Given the description of an element on the screen output the (x, y) to click on. 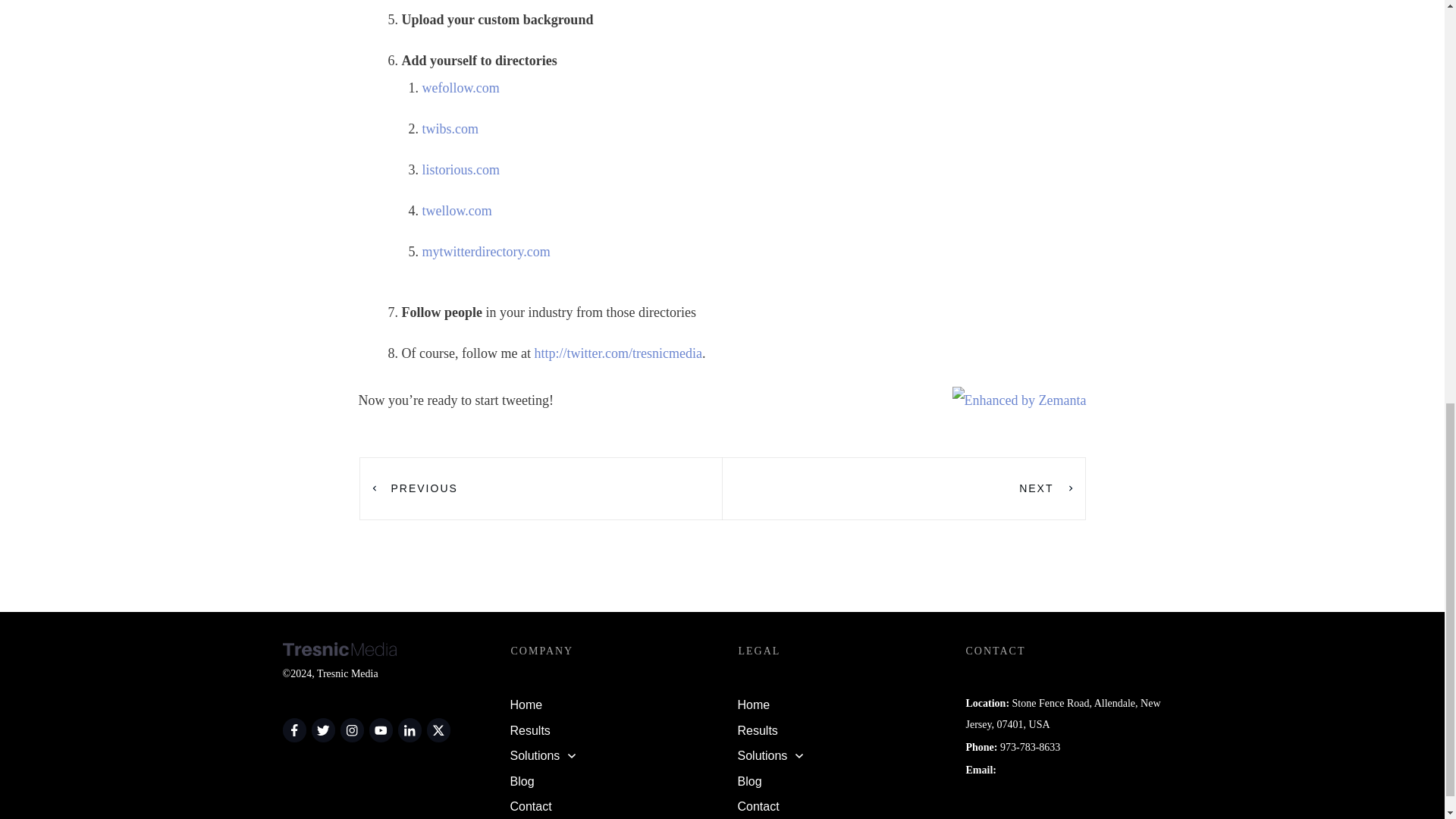
twibs.com (450, 128)
wefollow.com (460, 87)
mytwitterdirectory.com (486, 251)
NEXT (1047, 488)
listorious.com (460, 169)
twellow.com (457, 210)
PREVIOUS (412, 488)
